Given the description of an element on the screen output the (x, y) to click on. 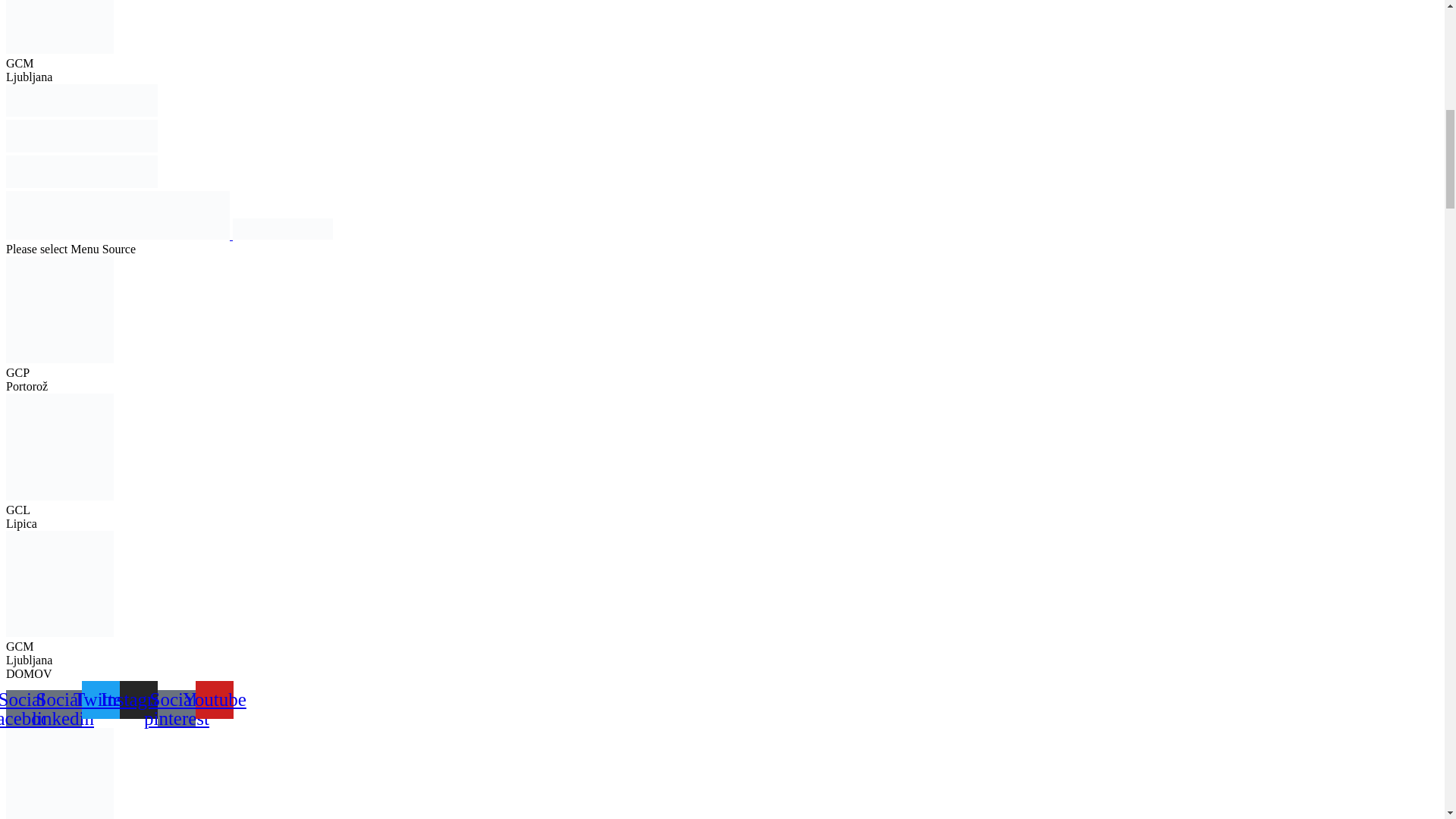
Social-linkedin (62, 709)
Youtube (213, 699)
Instagram (138, 699)
Social-facebook (24, 709)
Twitter (100, 699)
Social-pinterest (176, 709)
